Given the description of an element on the screen output the (x, y) to click on. 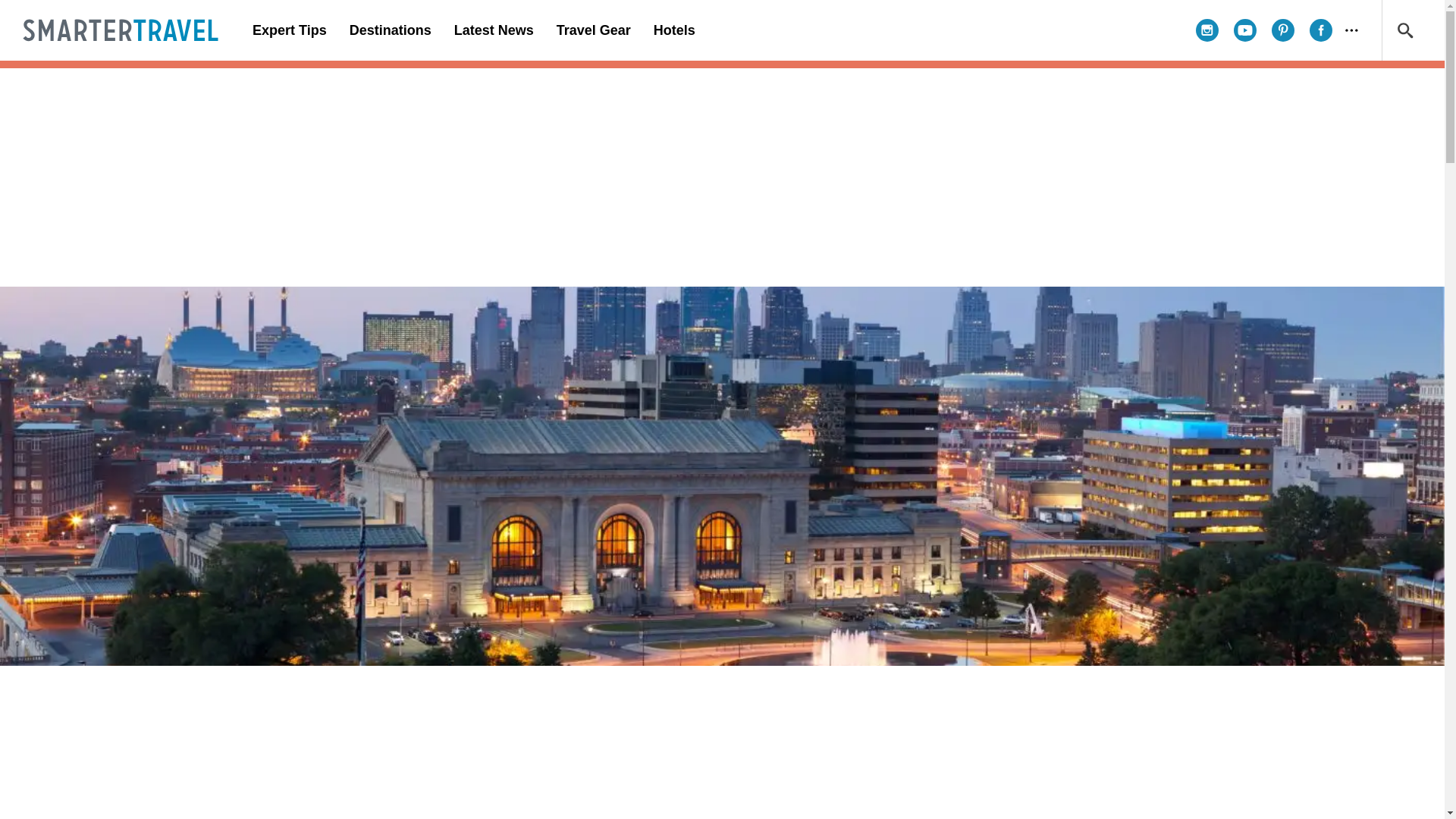
Travel Gear (593, 30)
Latest News (493, 30)
Expert Tips (289, 30)
Hotels (674, 30)
Destinations (389, 30)
